Given the description of an element on the screen output the (x, y) to click on. 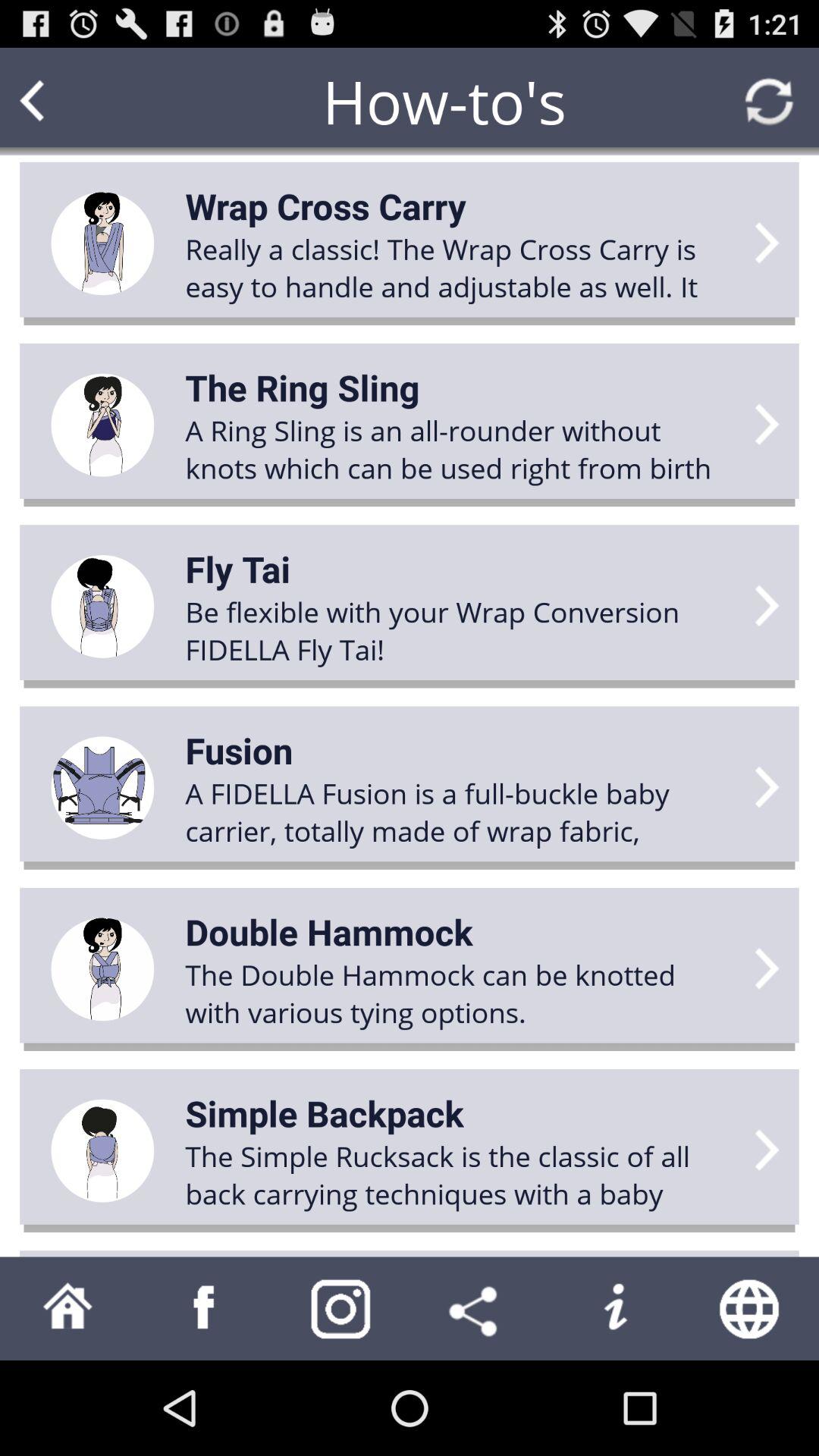
select item below fusion icon (460, 811)
